Given the description of an element on the screen output the (x, y) to click on. 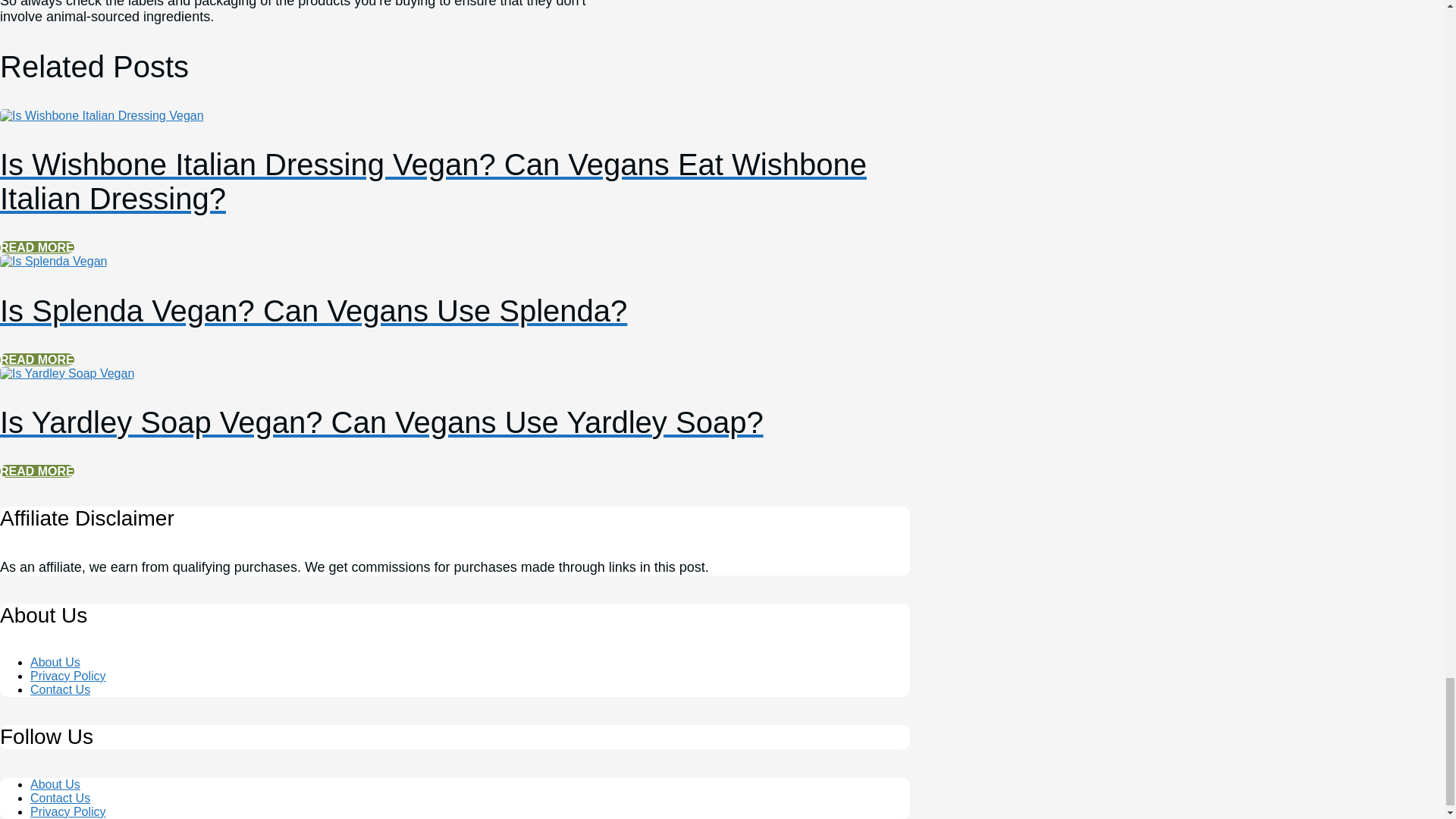
READ MORE (37, 246)
Contact Us (60, 689)
Is Splenda Vegan? Can Vegans Use Splenda? (455, 290)
Is Yardley Soap Vegan? Can Vegans Use Yardley Soap? (455, 402)
About Us (55, 662)
Is Splenda Vegan? Can Vegans Use Splenda? (53, 261)
READ MORE (37, 359)
About Us (55, 783)
Contact Us (60, 797)
Privacy Policy (68, 675)
